Given the description of an element on the screen output the (x, y) to click on. 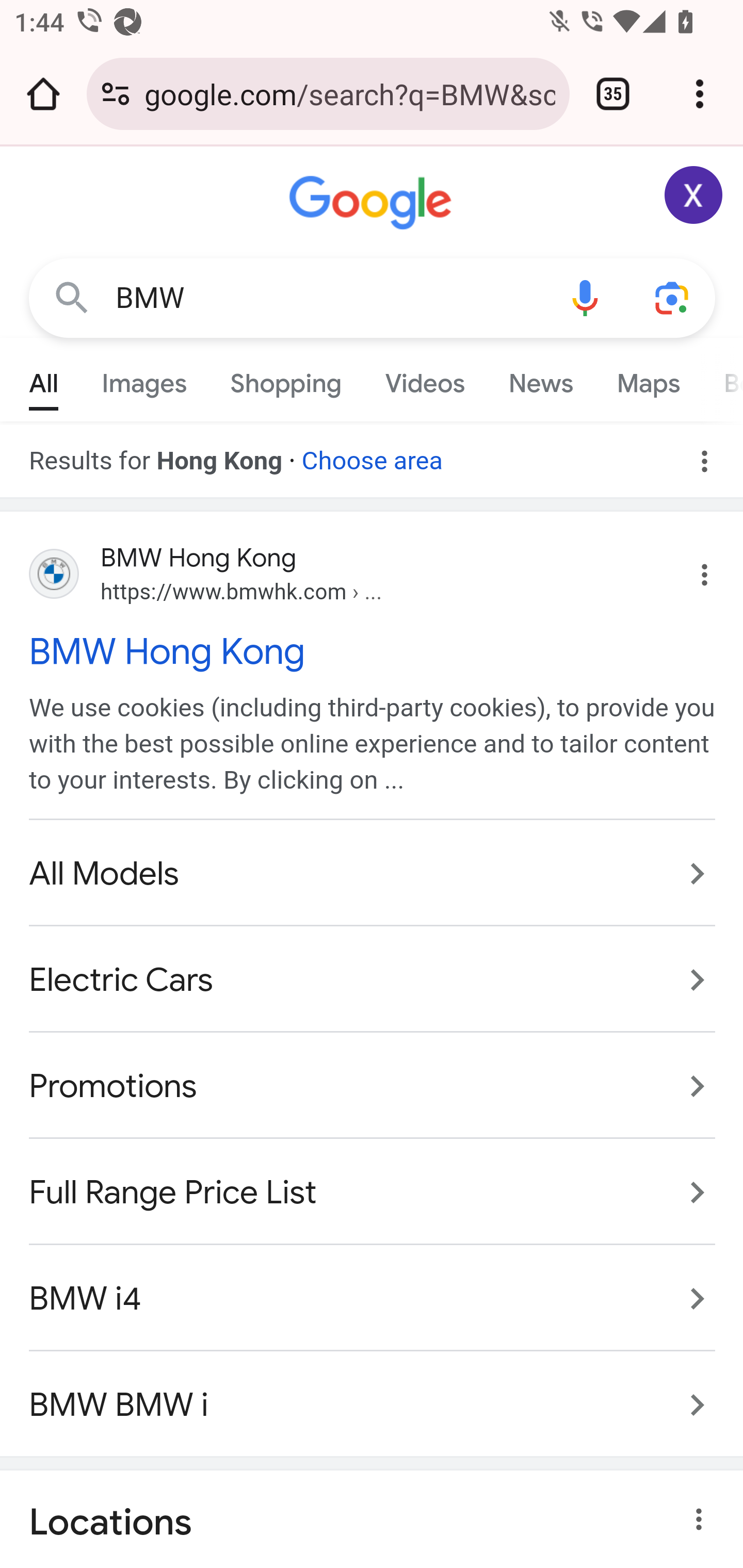
Open the home page (43, 93)
Connection is secure (115, 93)
Switch or close tabs (612, 93)
Customize and control Google Chrome (699, 93)
Google (372, 203)
Google Account: Xiaoran (zxrappiumtest@gmail.com) (694, 195)
Google Search (71, 296)
Search using your camera or photos (672, 296)
BMW (328, 297)
Images (144, 378)
Shopping (285, 378)
Videos (424, 378)
News (540, 378)
Maps (647, 378)
Choose area (371, 453)
BMW Hong Kong (372, 651)
All Models (372, 874)
Electric Cars (372, 981)
Promotions (372, 1087)
Full Range Price List (372, 1191)
BMW i4 (372, 1297)
BMW BMW i (372, 1393)
